Given the description of an element on the screen output the (x, y) to click on. 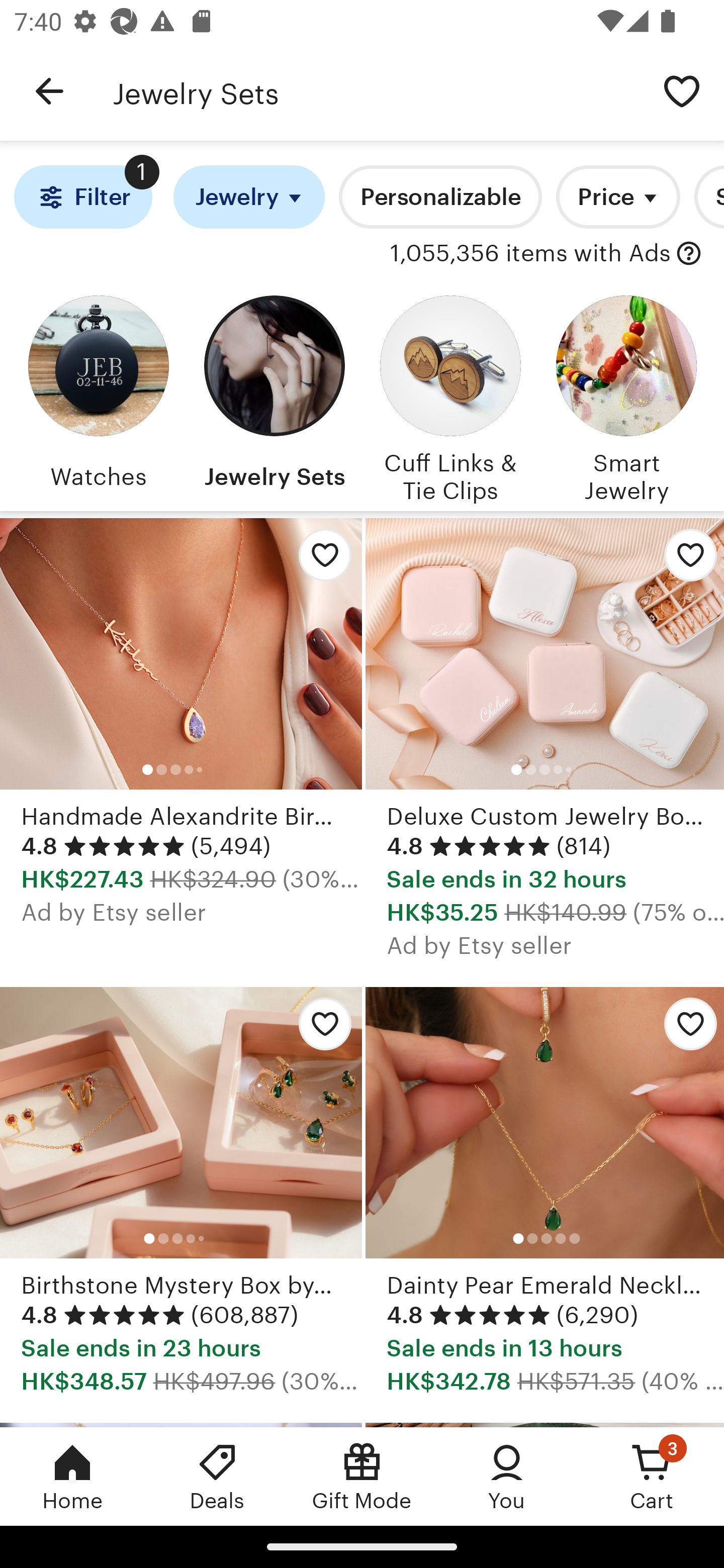
Navigate up (49, 91)
Save search (681, 90)
Jewelry Sets (375, 91)
Filter (82, 197)
Jewelry (249, 197)
Personalizable (440, 197)
Price (618, 197)
1,055,356 items with Ads (530, 253)
with Ads (688, 253)
Watches (97, 395)
Jewelry Sets (273, 395)
Cuff Links & Tie Clips (449, 395)
Smart Jewelry (625, 395)
Deals (216, 1475)
Gift Mode (361, 1475)
You (506, 1475)
Cart, 3 new notifications Cart (651, 1475)
